Given the description of an element on the screen output the (x, y) to click on. 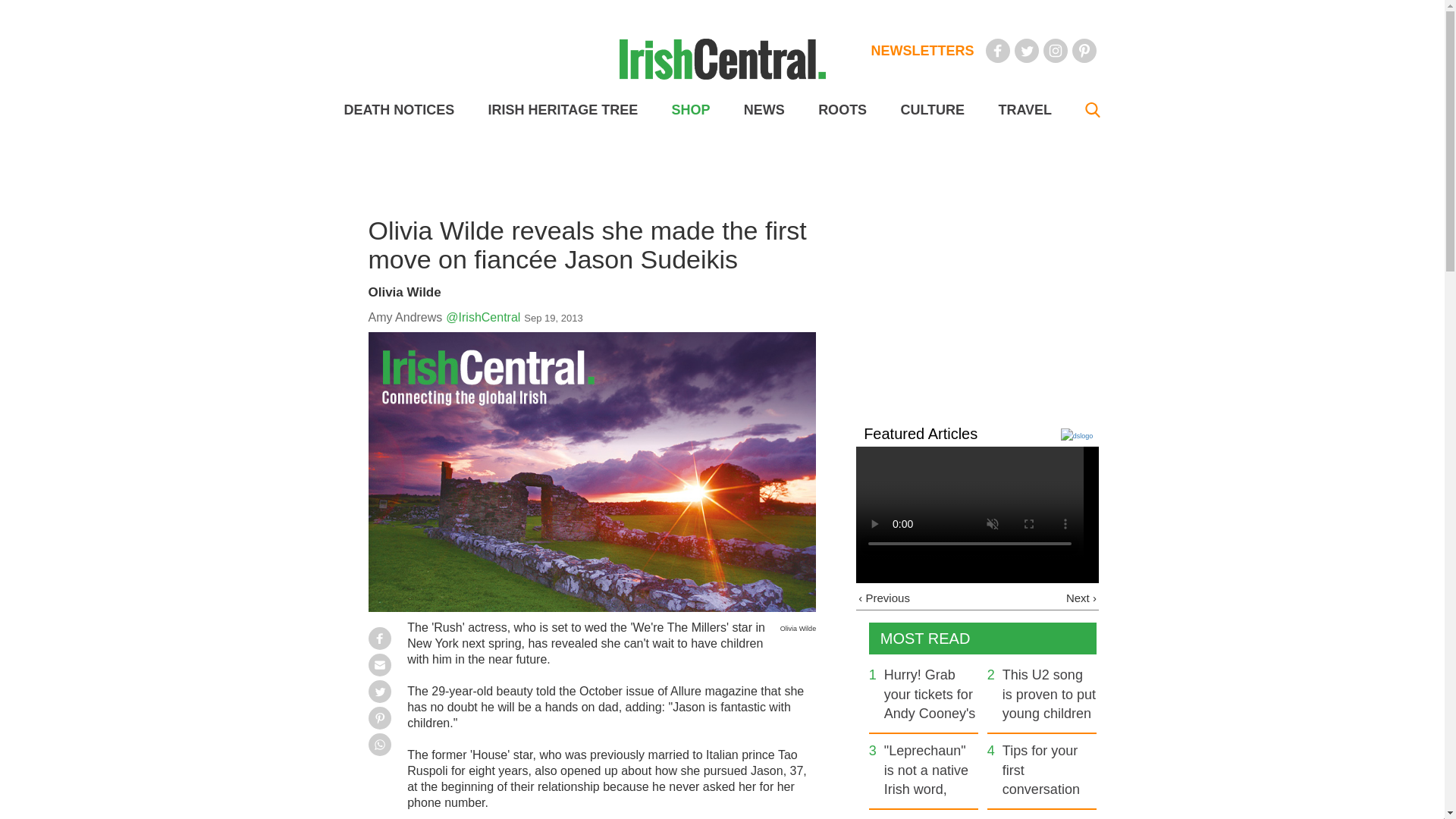
NEWS (764, 109)
SHOP (690, 109)
ROOTS (842, 109)
CULTURE (931, 109)
IRISH HERITAGE TREE (562, 109)
NEWSLETTERS (922, 50)
DEATH NOTICES (398, 109)
TRAVEL (1024, 109)
